Given the description of an element on the screen output the (x, y) to click on. 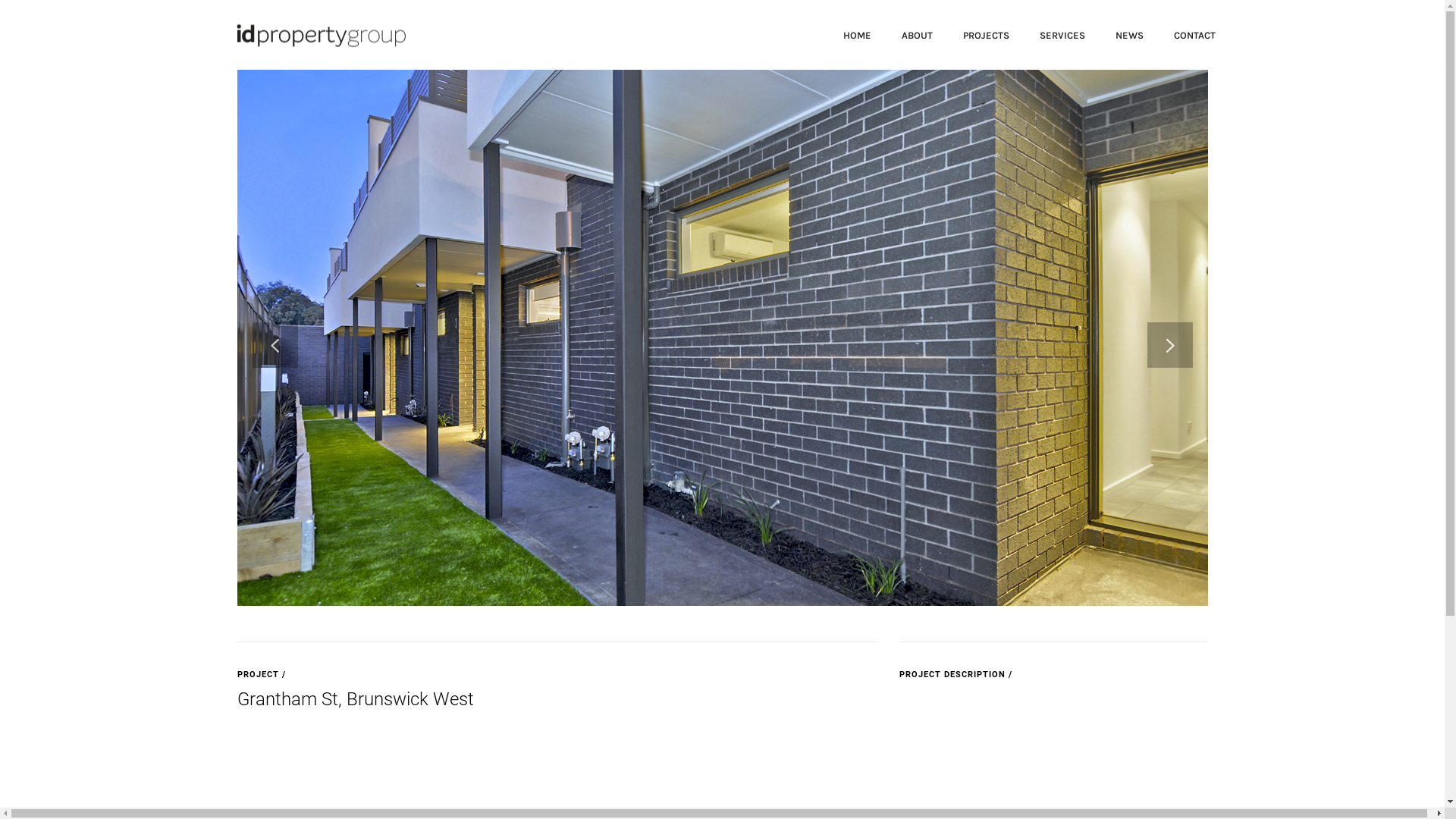
ABOUT Element type: text (916, 34)
PROJECT / Element type: text (260, 674)
HOME Element type: text (857, 34)
CONTACT Element type: text (1194, 34)
PROJECTS Element type: text (985, 34)
PROJECT DESCRIPTION / Element type: text (955, 674)
NEWS Element type: text (1128, 34)
SERVICES Element type: text (1061, 34)
PROPERTY DEVELOPERS MELBOURNE Element type: hover (318, 33)
